Given the description of an element on the screen output the (x, y) to click on. 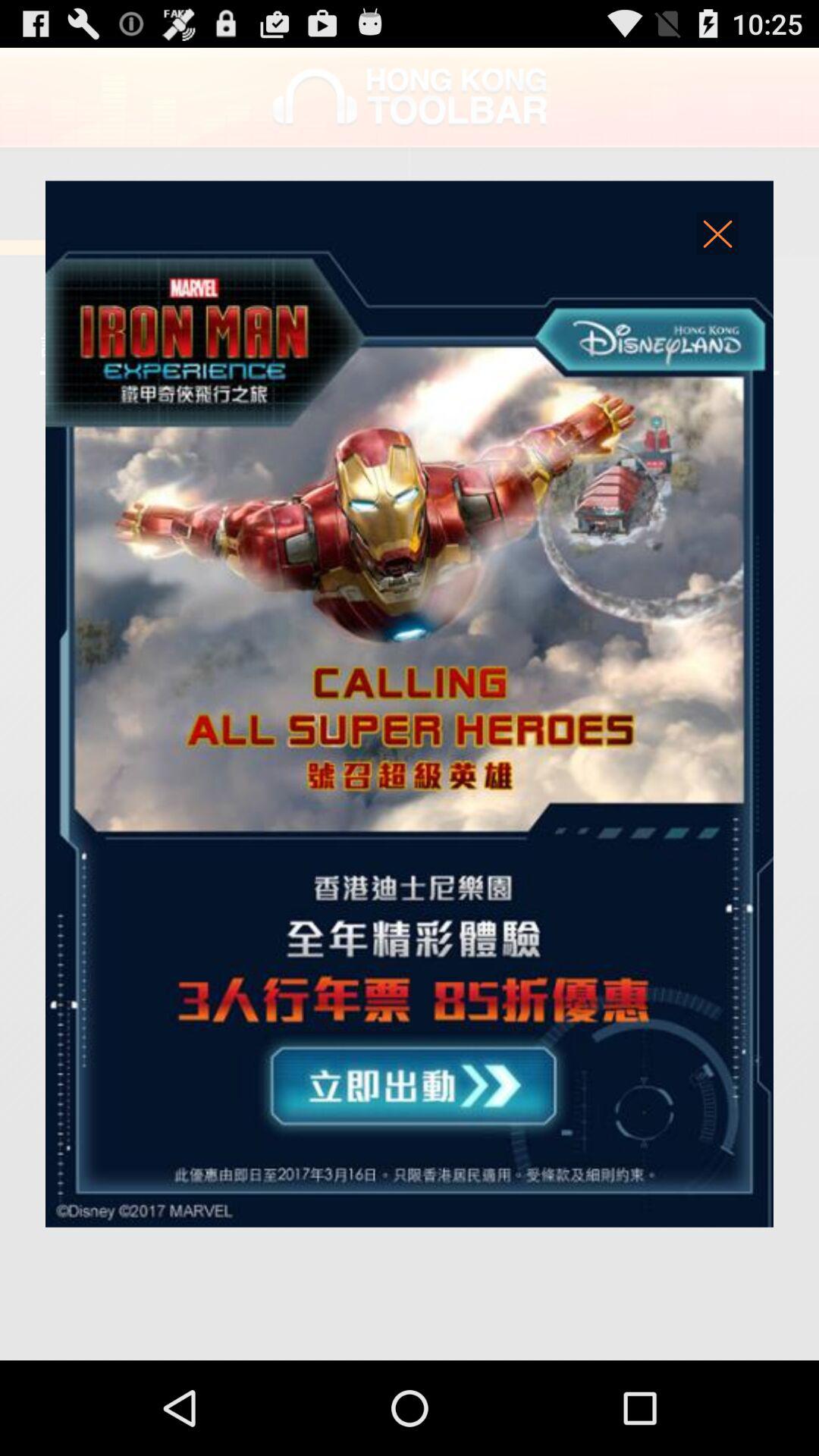
open advertisement (409, 703)
